Given the description of an element on the screen output the (x, y) to click on. 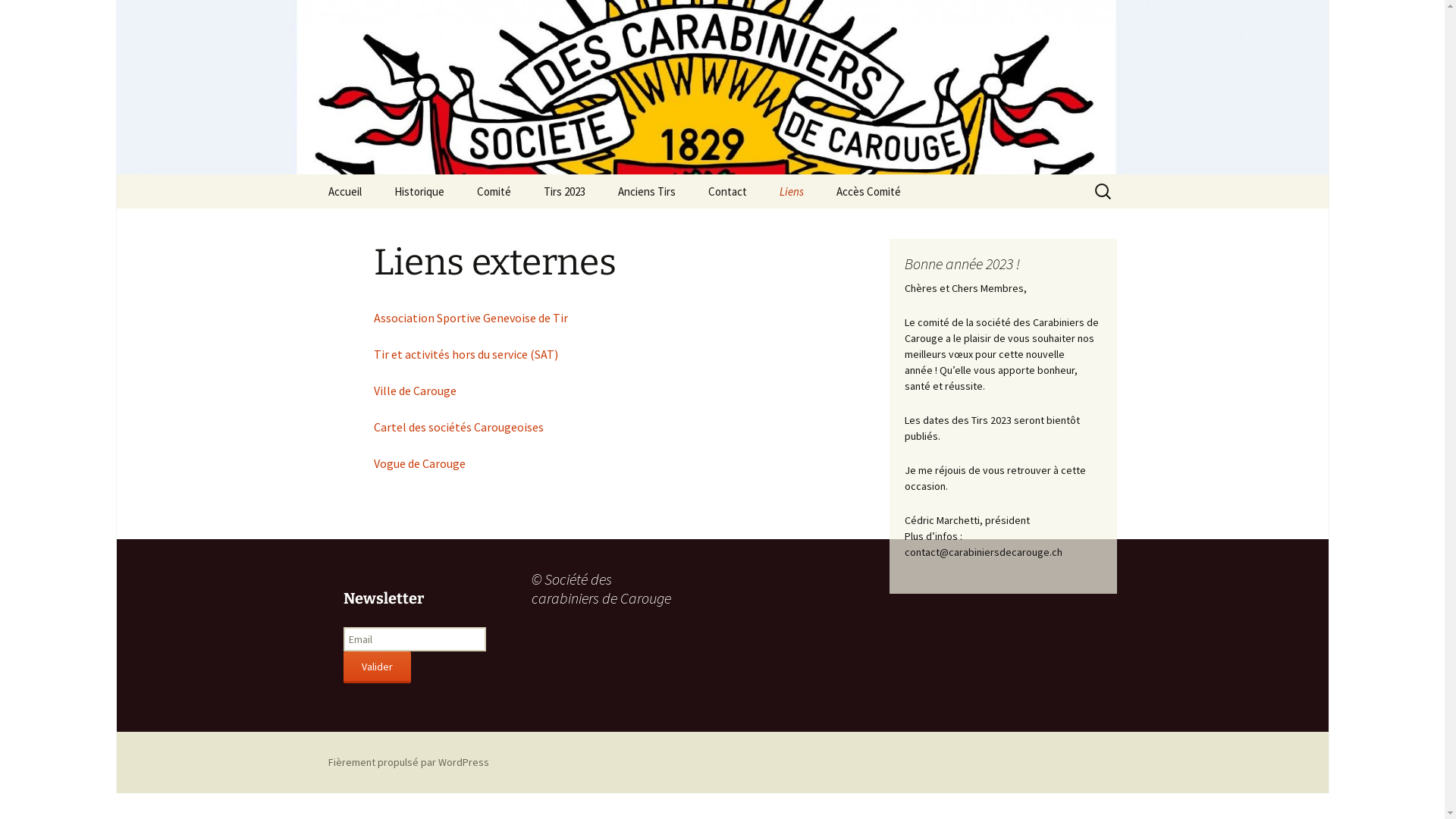
Tirs 2023 Element type: text (563, 191)
Vogue de Carouge Element type: text (418, 462)
Rechercher Element type: text (18, 16)
Ville de Carouge Element type: text (414, 390)
Tirs 2022 Element type: text (677, 225)
Association Sportive Genevoise de Tir Element type: text (470, 317)
Historique Element type: text (419, 191)
Liens Element type: text (791, 191)
Contact Element type: text (727, 191)
Aller au contenu Element type: text (312, 174)
Valider Element type: text (376, 667)
Accueil Element type: text (344, 191)
Anciens Tirs Element type: text (646, 191)
